Given the description of an element on the screen output the (x, y) to click on. 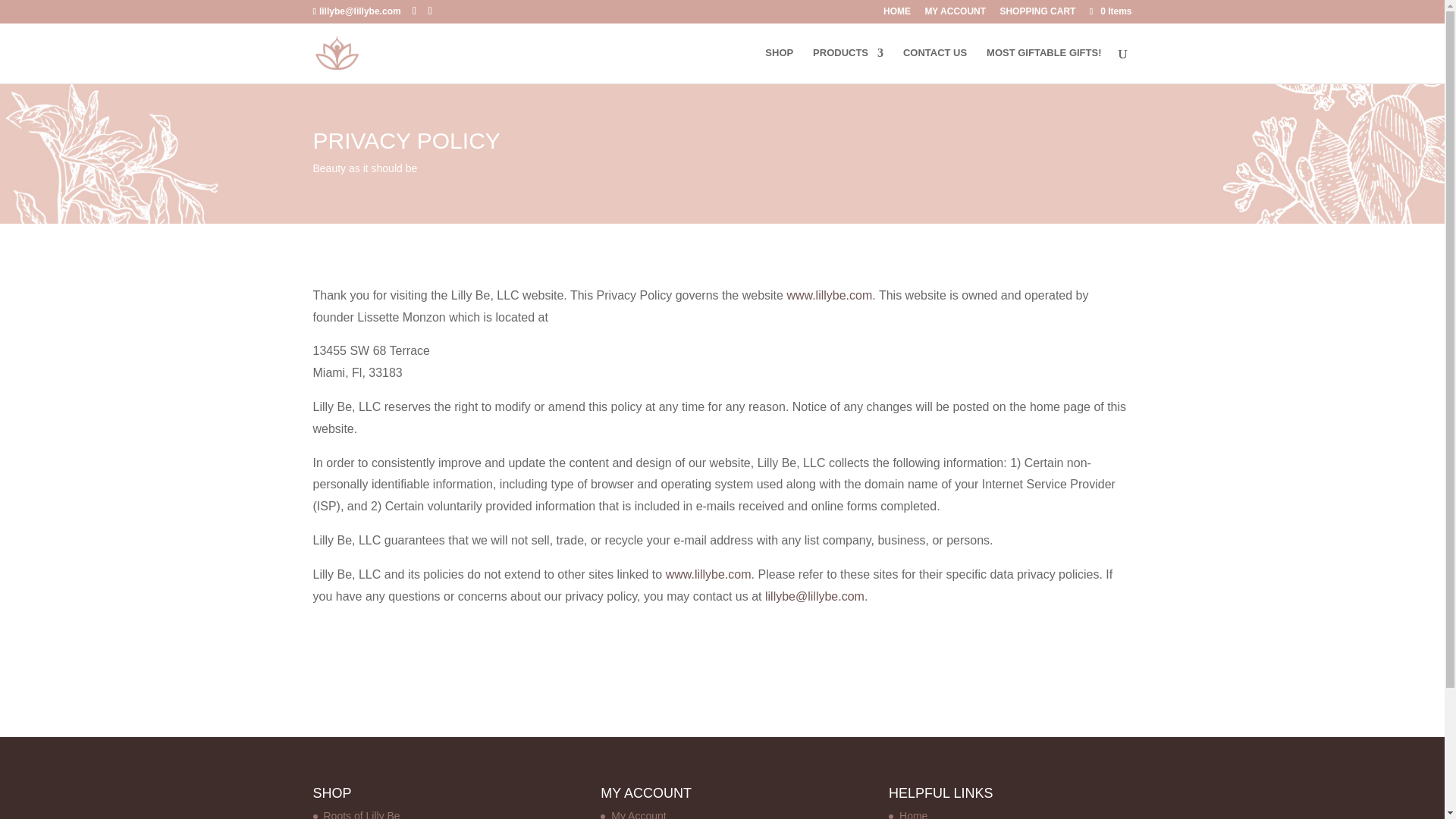
0 Items (1108, 10)
HOME (897, 14)
www.lillybe.com (708, 574)
MOST GIFTABLE GIFTS! (1043, 65)
PRODUCTS (847, 65)
Home (913, 814)
My Account (638, 814)
SHOPPING CART (1036, 14)
Roots of Lilly Be (360, 814)
CONTACT US (934, 65)
